Given the description of an element on the screen output the (x, y) to click on. 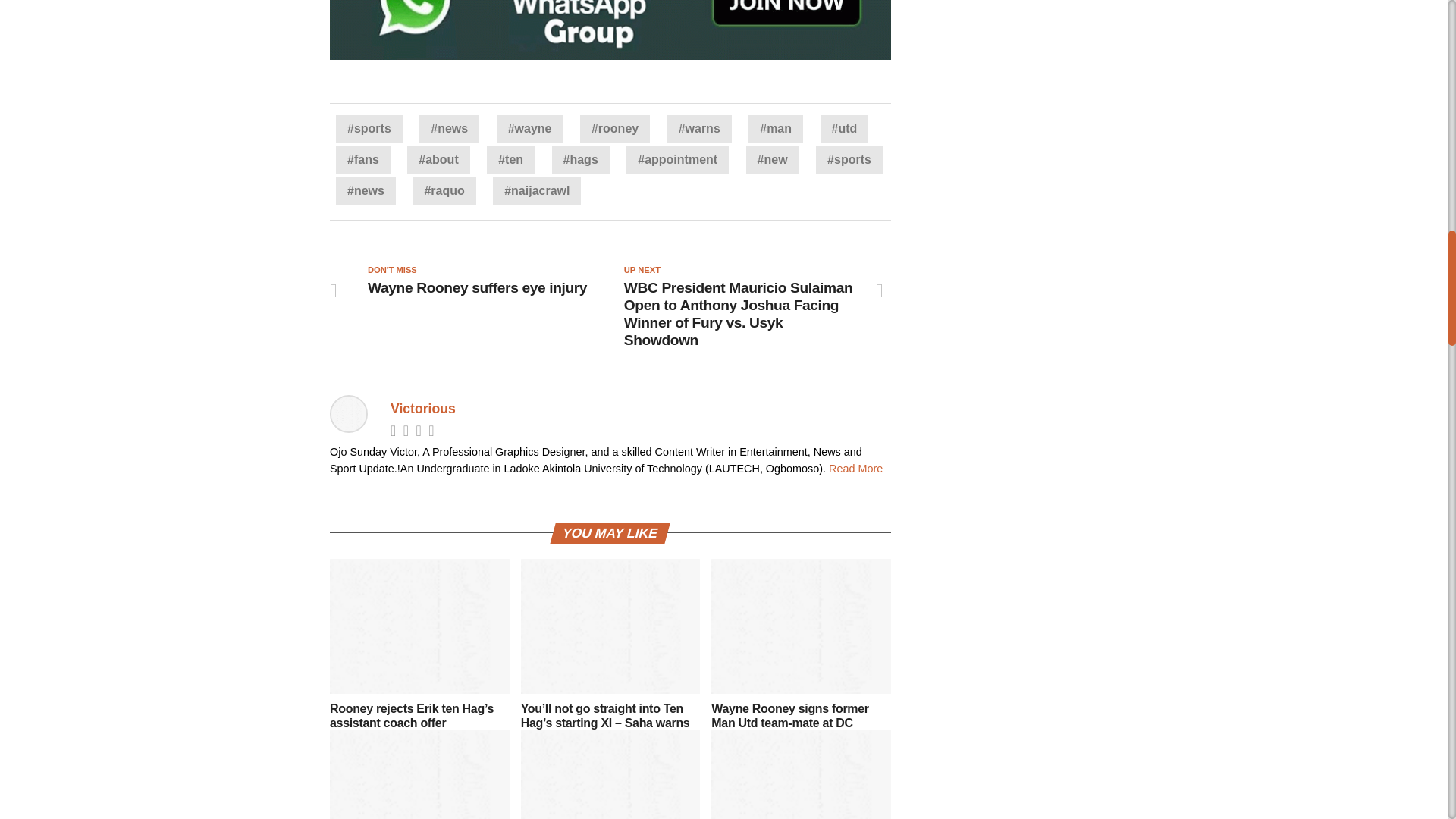
Posts by Victorious (422, 408)
